Given the description of an element on the screen output the (x, y) to click on. 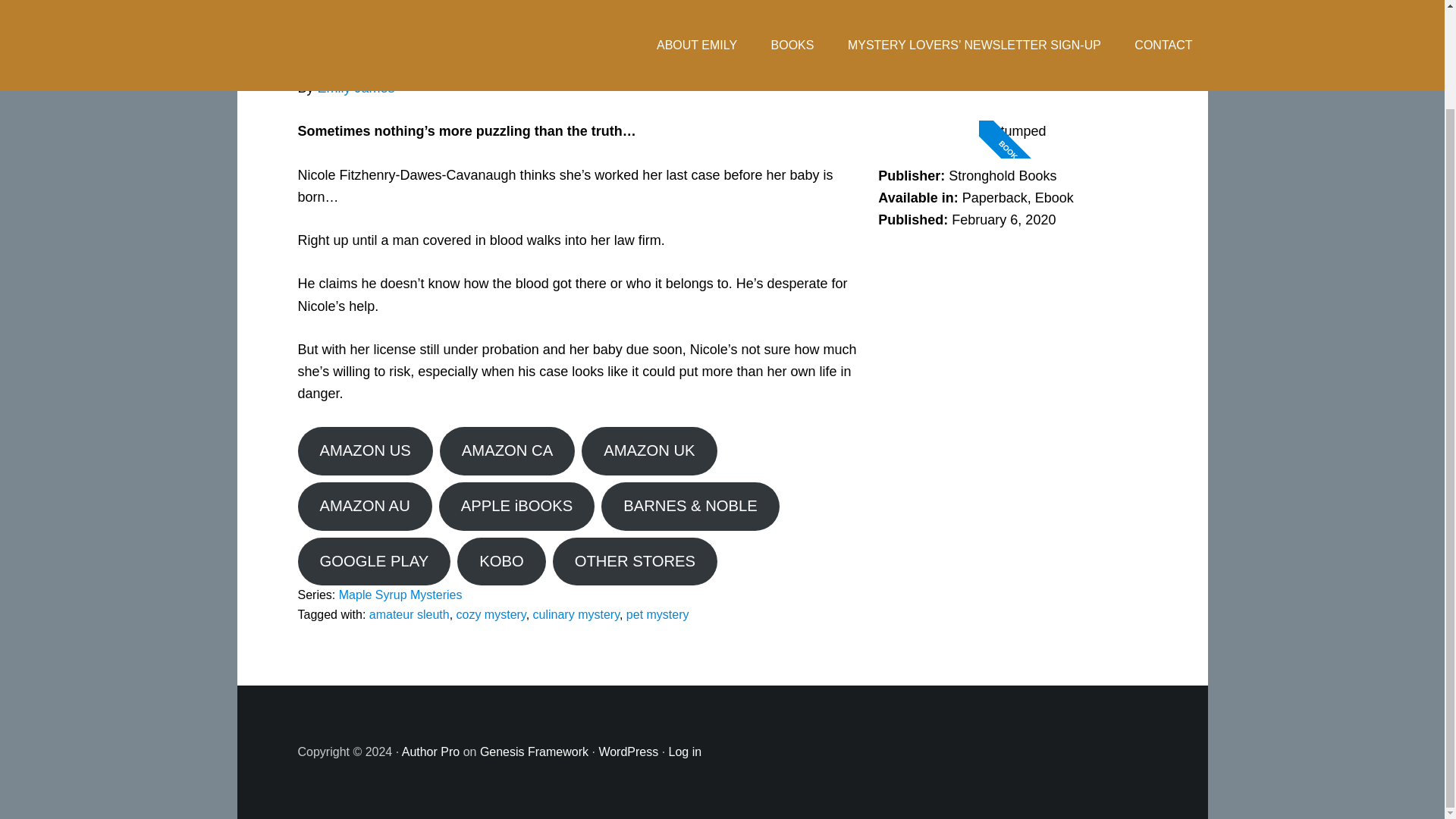
AMAZON CA (507, 450)
AMAZON AU (363, 506)
AMAZON US (364, 450)
Maple Syrup Mysteries (401, 594)
Log in (684, 751)
WordPress (628, 751)
GOOGLE PLAY (373, 561)
APPLE iBOOKS (516, 506)
KOBO (500, 561)
cozy mystery (491, 614)
